Given the description of an element on the screen output the (x, y) to click on. 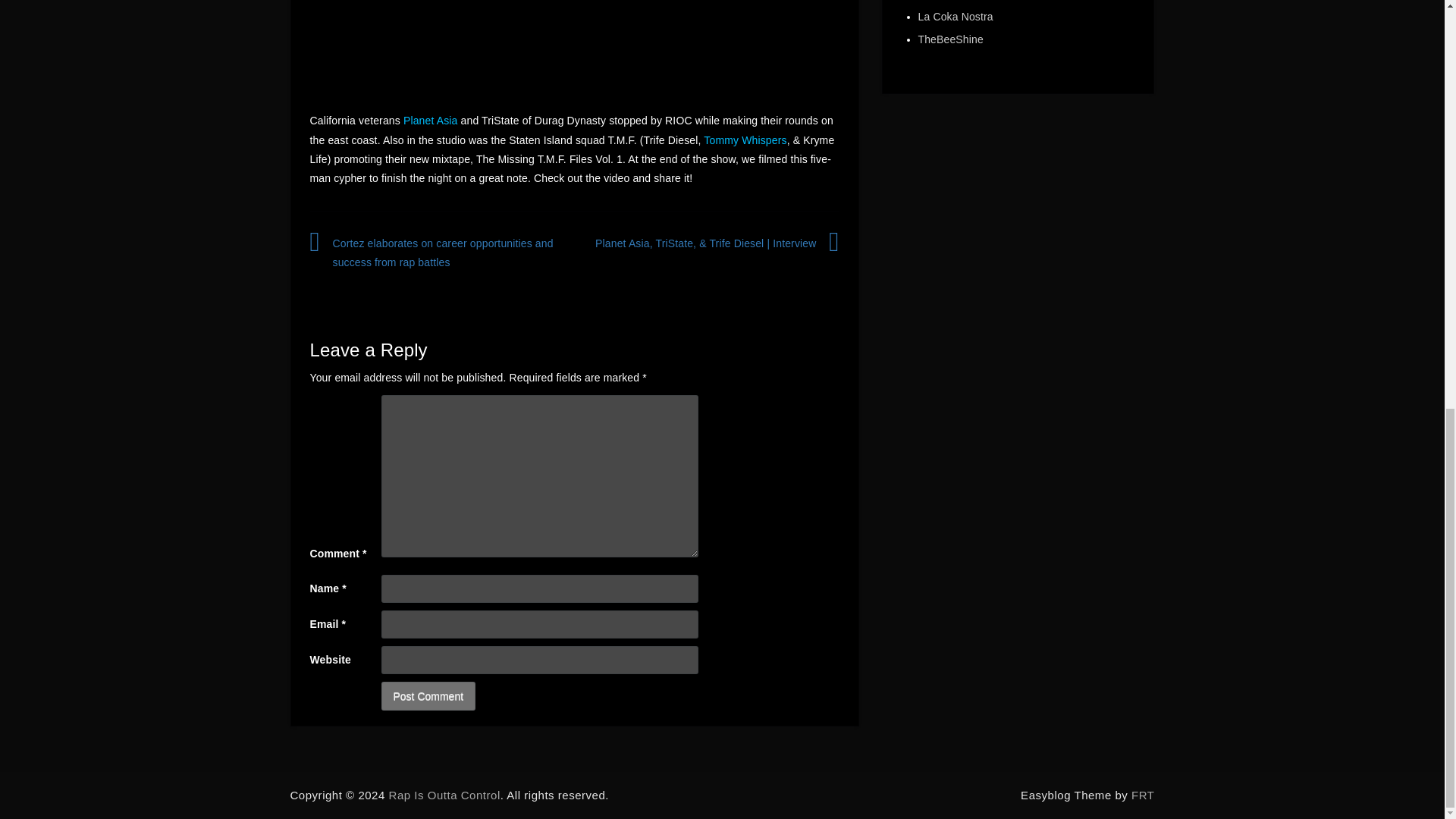
Tommy Whispers (744, 140)
Rap Is Outta Control (444, 794)
Planet Asia (430, 120)
Post Comment (428, 695)
La Coka Nostra (954, 16)
TheBeeShine (949, 39)
FRT (1142, 794)
Rap Is Outta Control (444, 794)
Post Comment (428, 695)
